Given the description of an element on the screen output the (x, y) to click on. 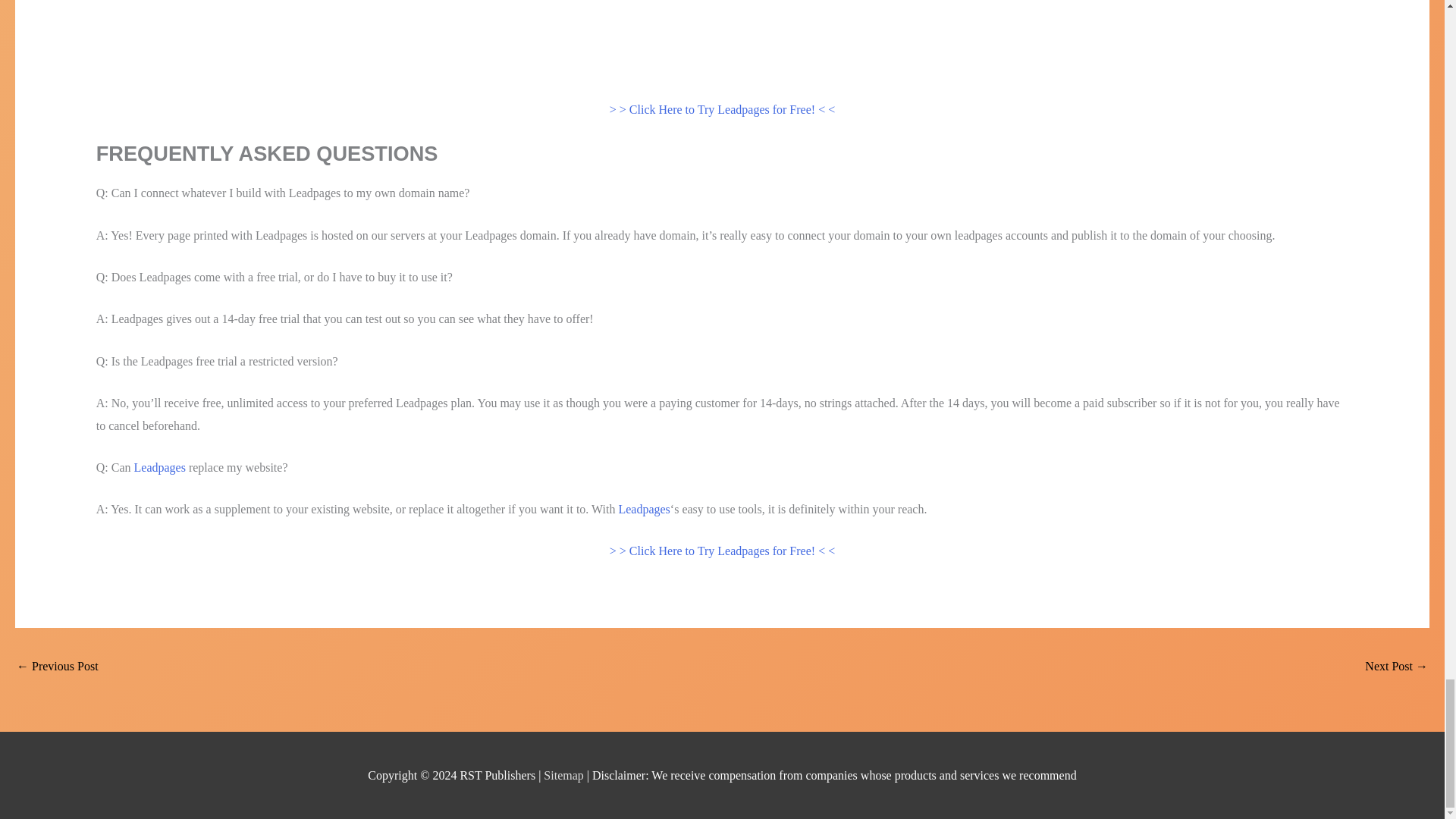
Leadpages (643, 508)
Leadpages (158, 467)
Leadpages Hacked (1396, 667)
What is Leadpages Nofollow (57, 667)
Sitemap (564, 775)
